Given the description of an element on the screen output the (x, y) to click on. 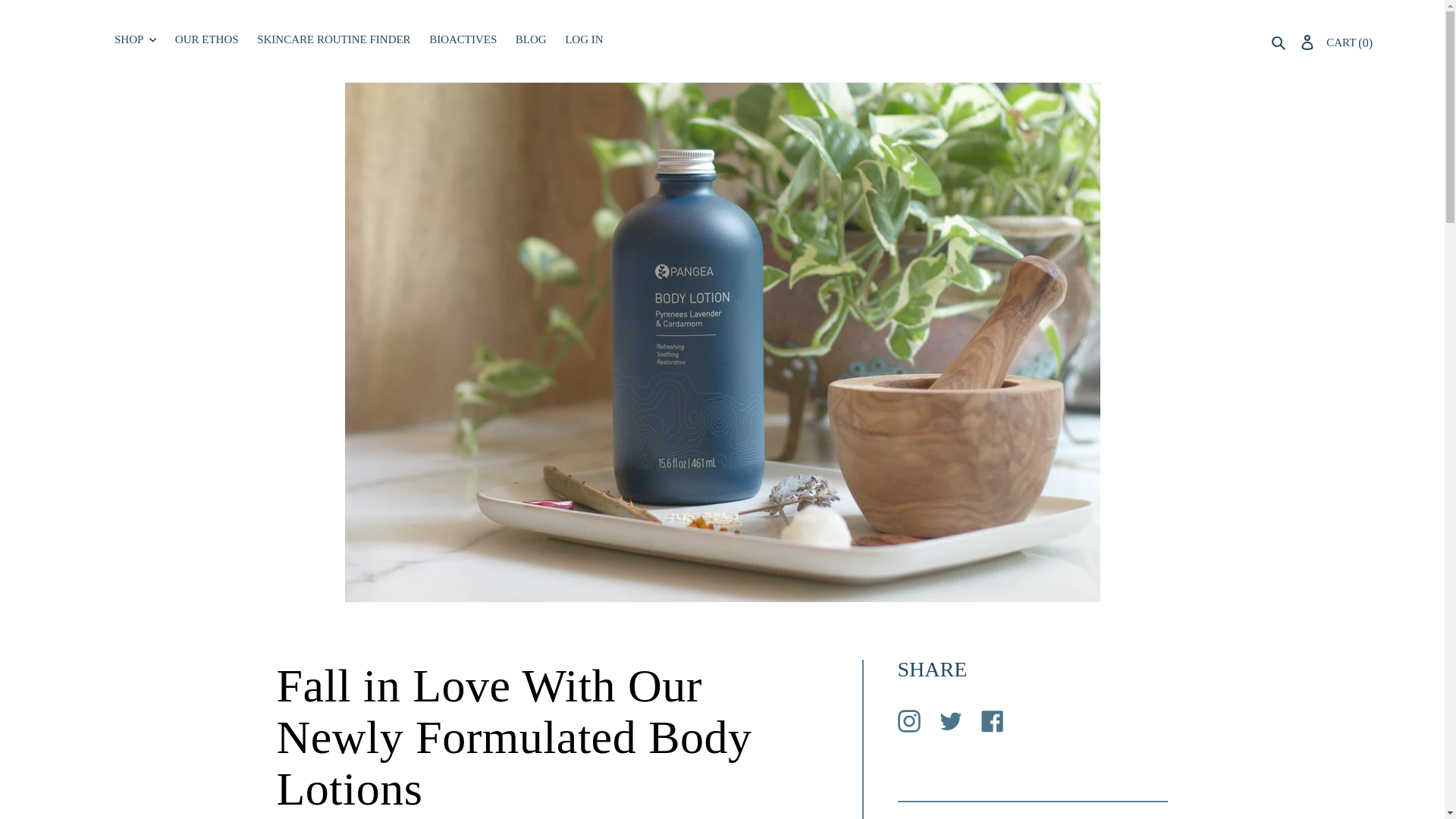
SHOP (134, 38)
Log in (1307, 41)
SKINCARE ROUTINE FINDER (333, 38)
LOG IN (583, 38)
BIOACTIVES (462, 38)
Search (1279, 41)
BLOG (531, 38)
OUR ETHOS (206, 38)
